Given the description of an element on the screen output the (x, y) to click on. 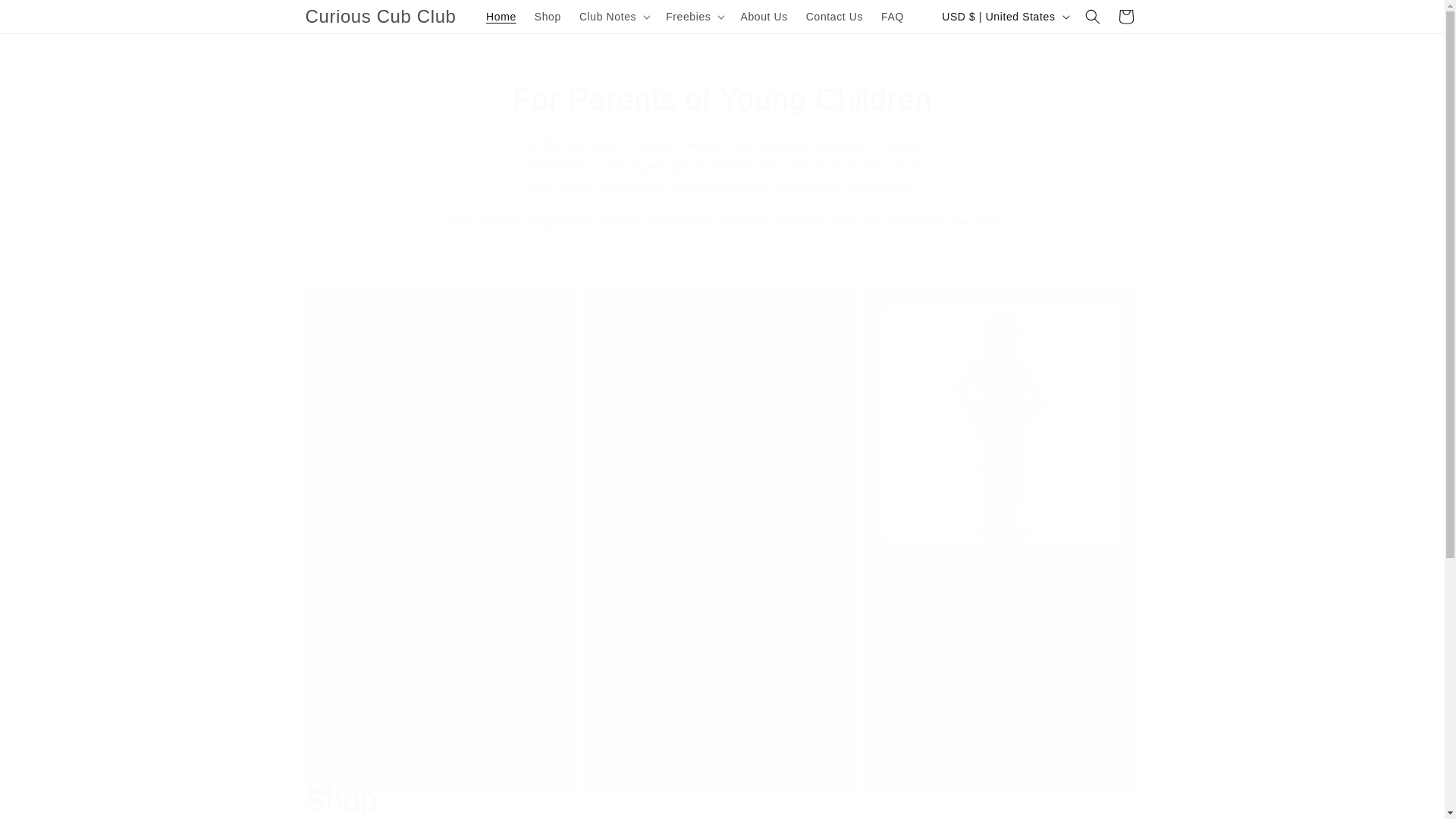
Kid Nutrition Blog  (665, 700)
About Us (763, 16)
Home (501, 16)
Shop (340, 799)
Contact Us (834, 16)
Shop (547, 16)
FAQ (892, 16)
Skip to content (45, 17)
Cart (1124, 16)
Baby Shower Blog  (388, 743)
Curious Cub Club (380, 16)
For Parents of Young Children (721, 98)
